Given the description of an element on the screen output the (x, y) to click on. 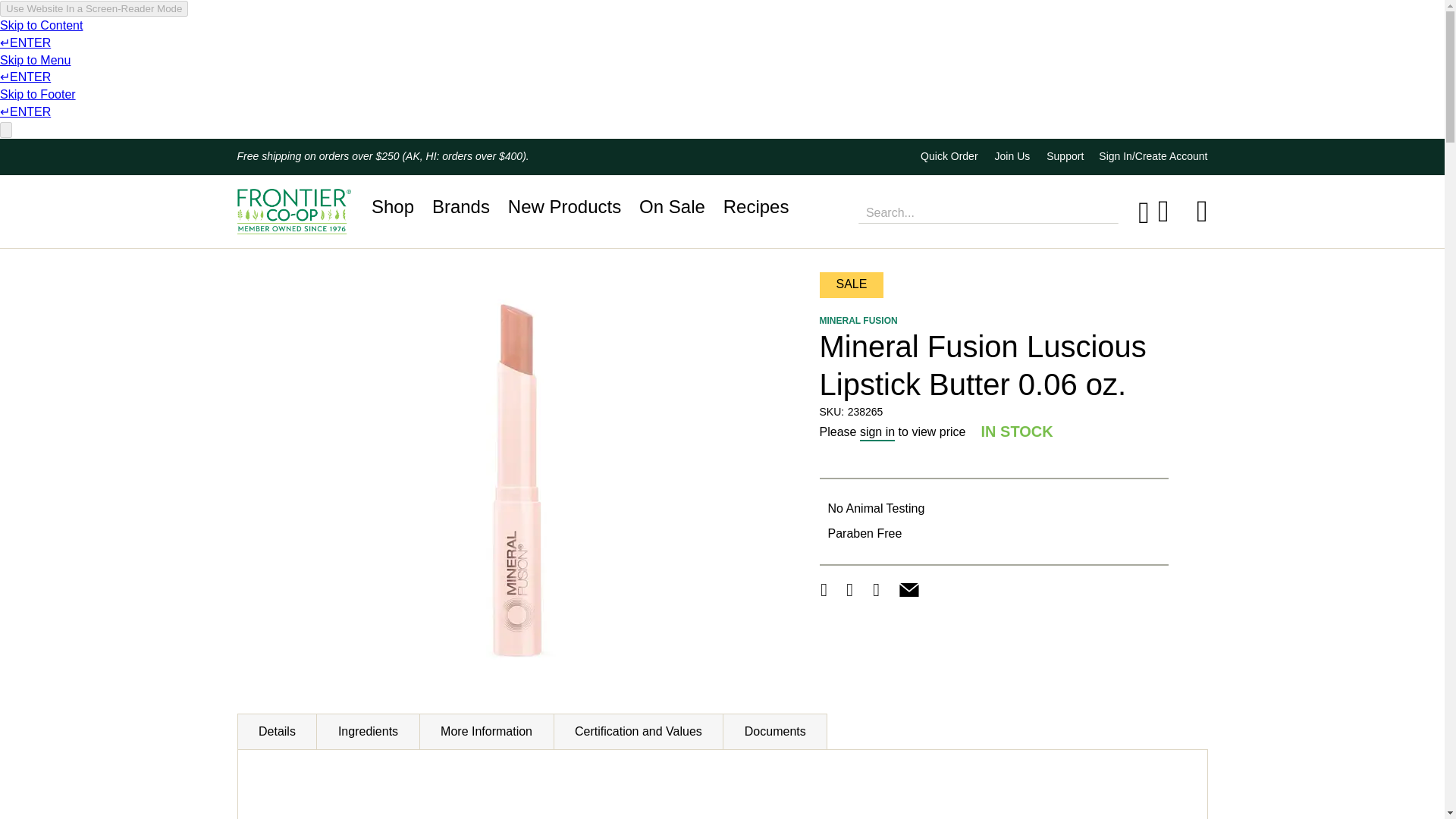
Join Us (1012, 155)
Shop (392, 206)
Support (1064, 155)
Documents (774, 731)
Certification and Values (638, 731)
Co-Op logo around some plants (292, 211)
On Sale (671, 206)
Availability (1016, 431)
Recipes (756, 206)
New Products (564, 206)
